Given the description of an element on the screen output the (x, y) to click on. 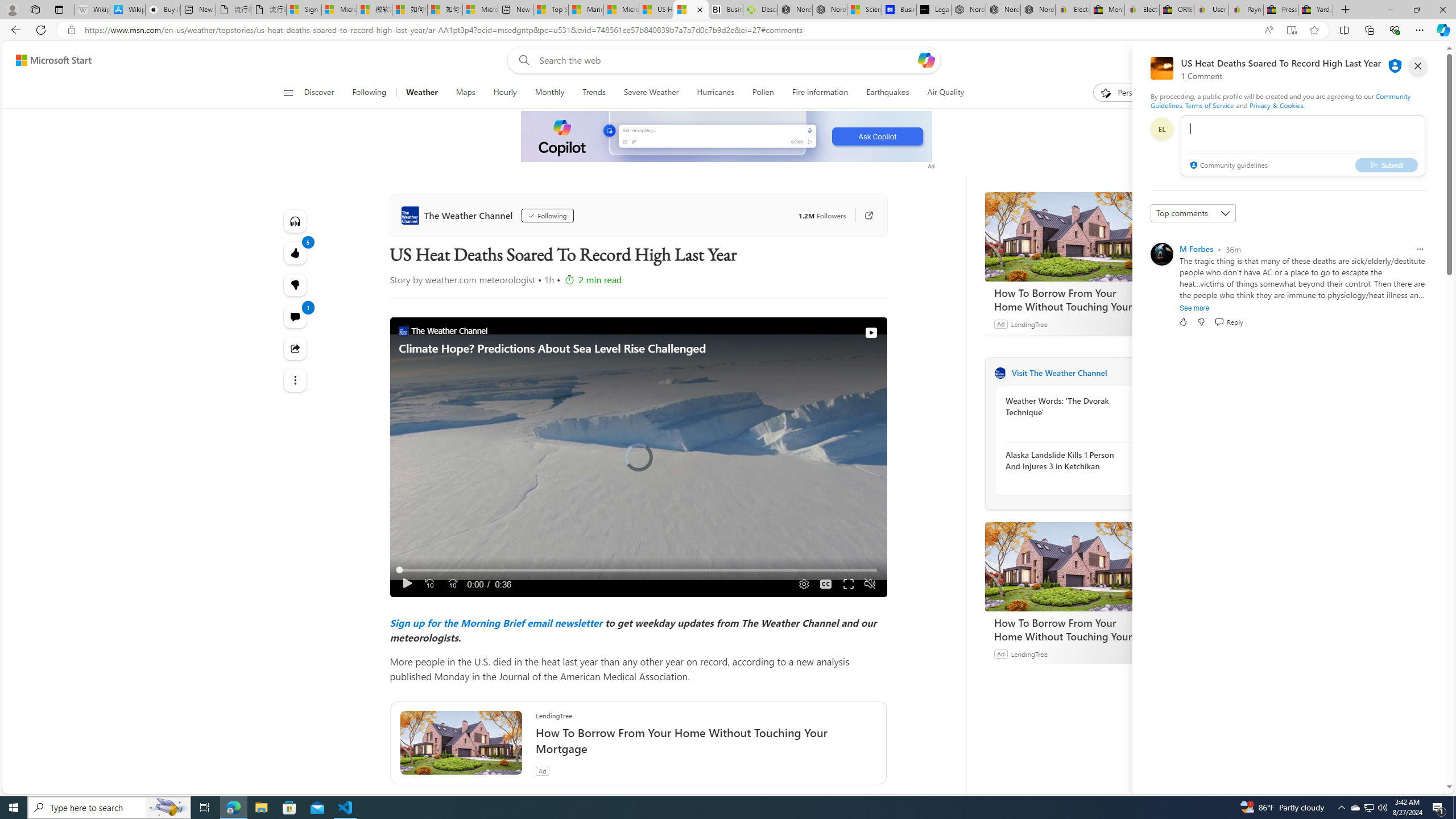
Wikipedia - Sleeping (92, 9)
Following (542, 215)
Close tab (699, 9)
Microsoft account | Account Checkup (479, 9)
Like (1182, 321)
Earthquakes (888, 92)
Microsoft Services Agreement (339, 9)
Go to publisher's site (863, 215)
Minimize (1390, 9)
Browser essentials (1394, 29)
Open navigation menu (287, 92)
Feedback (1402, 784)
Copilot (Ctrl+Shift+.) (1442, 29)
